Given the description of an element on the screen output the (x, y) to click on. 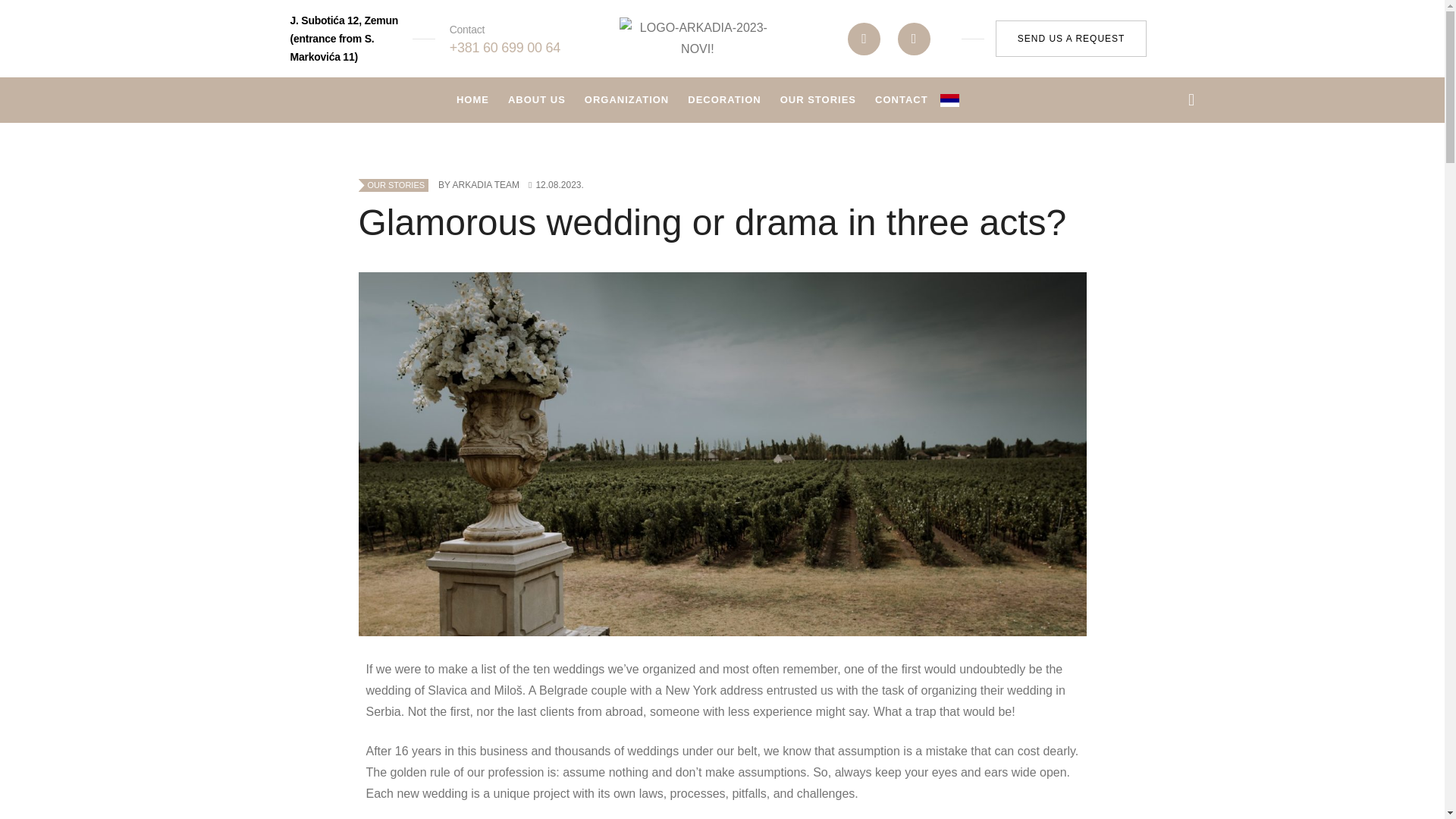
DECORATION (723, 99)
SEND US A REQUEST (1071, 38)
CONTACT (901, 99)
LOGO-ARKADIA-2023-NOVI! (697, 38)
ABOUT US (537, 99)
OUR STORIES (818, 99)
ORGANIZATION (626, 99)
